Given the description of an element on the screen output the (x, y) to click on. 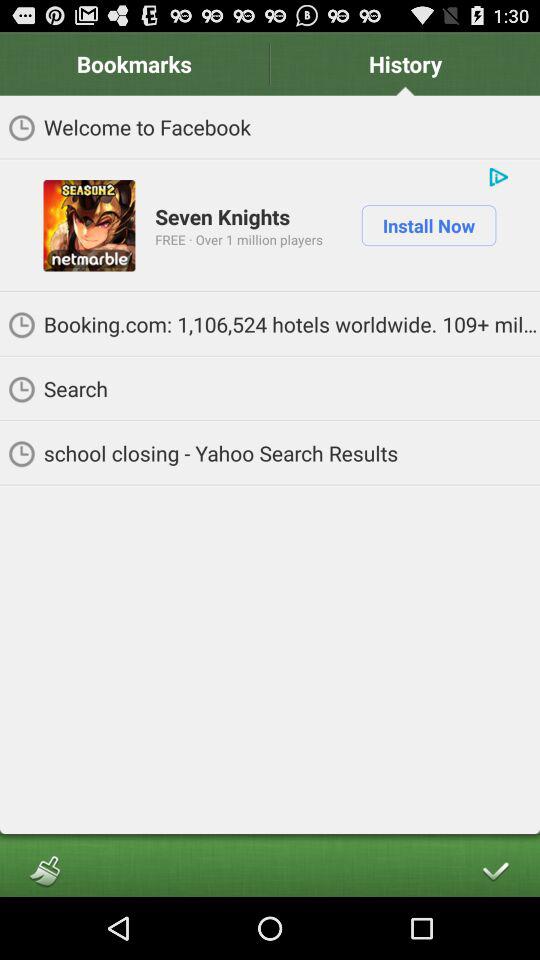
scroll until history item (405, 63)
